Given the description of an element on the screen output the (x, y) to click on. 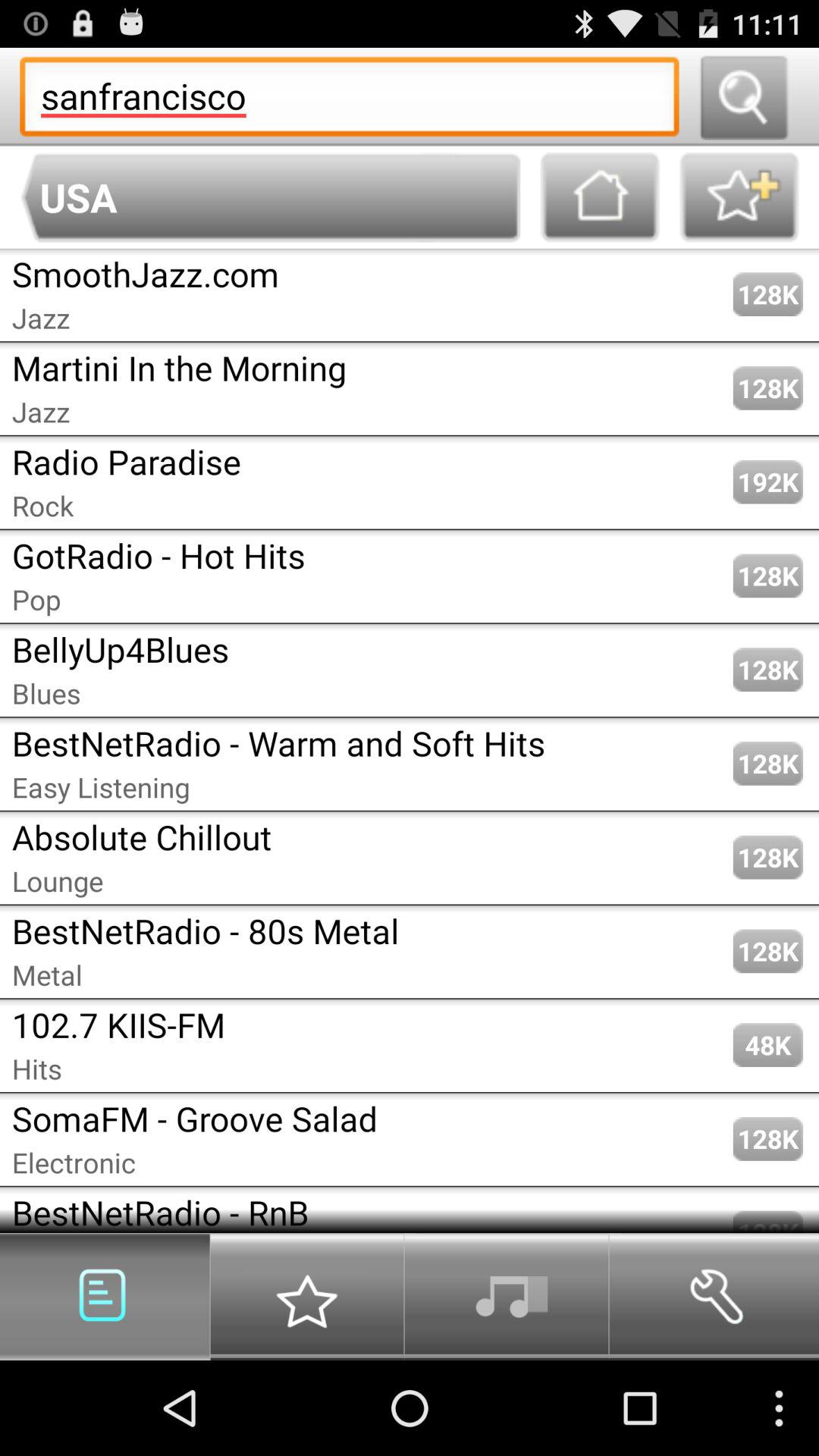
search item (743, 96)
